Given the description of an element on the screen output the (x, y) to click on. 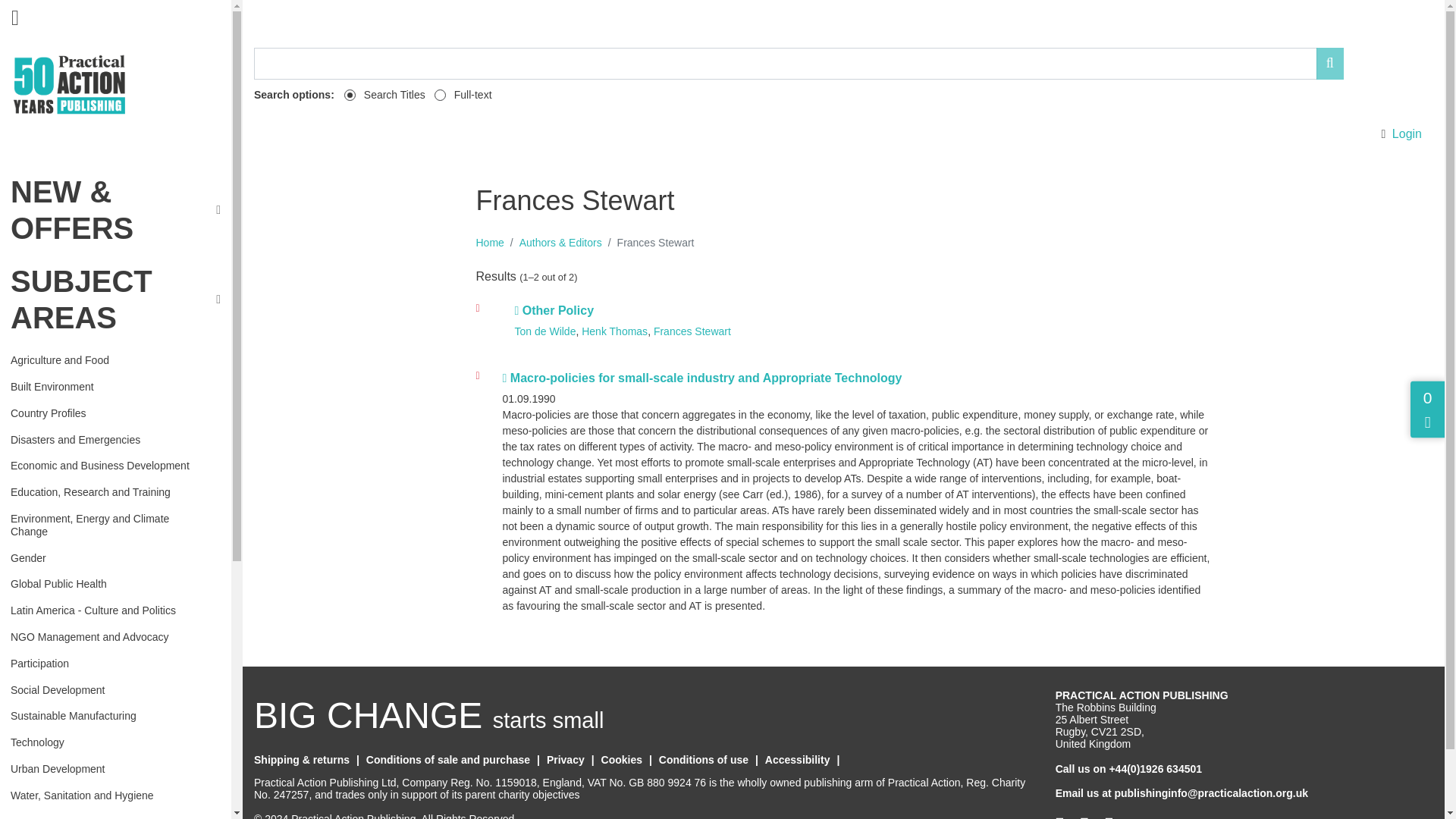
Country Profiles (109, 413)
Gender (109, 557)
Technology (109, 742)
NGO Management and Advocacy (109, 637)
Education, Research and Training (109, 492)
Environment, Energy and Climate Change (109, 525)
Participation (109, 663)
Built Environment (109, 386)
Disasters and Emergencies (109, 439)
Agriculture and Food (109, 360)
